Given the description of an element on the screen output the (x, y) to click on. 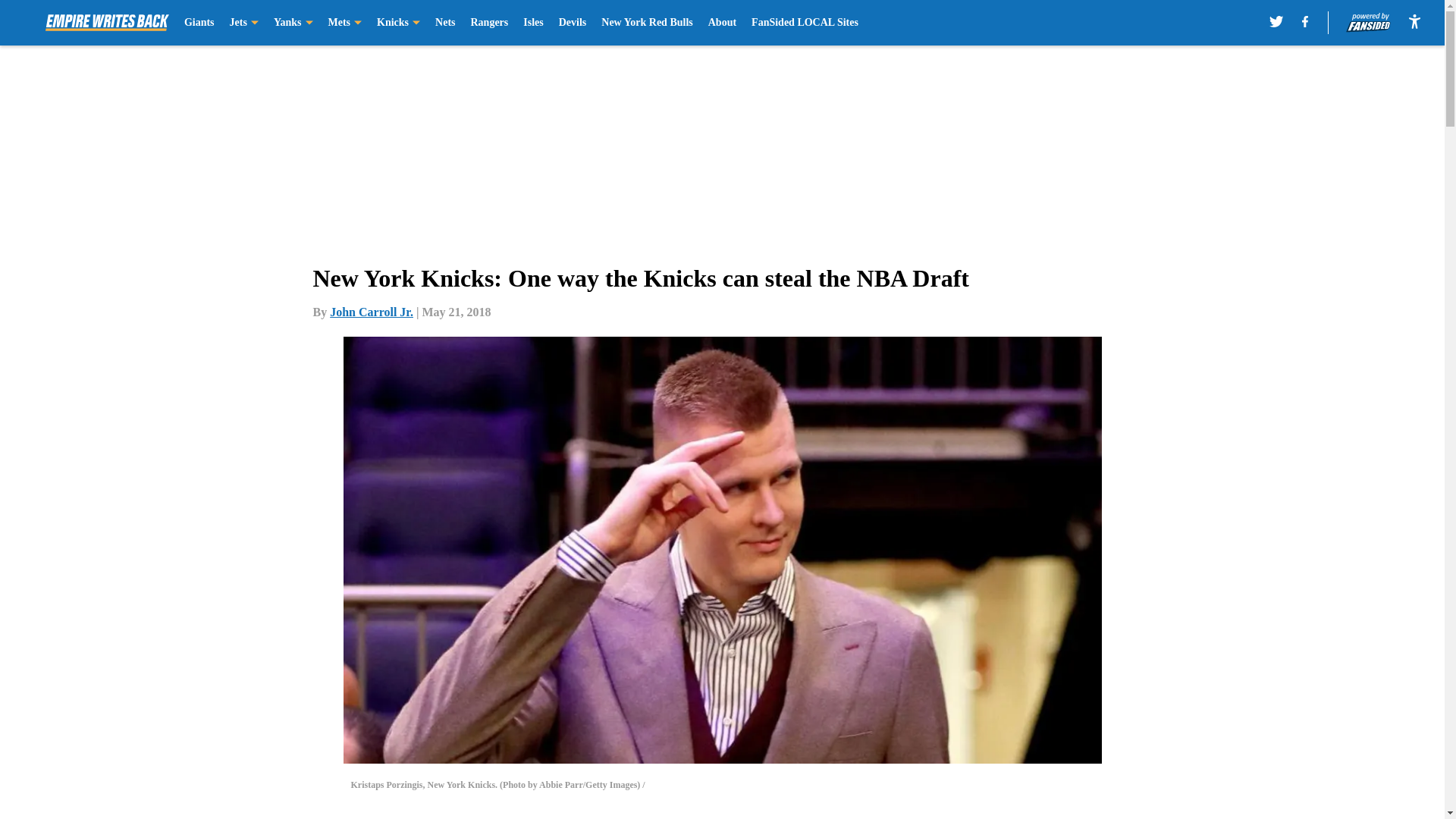
About (721, 22)
John Carroll Jr. (371, 311)
FanSided LOCAL Sites (805, 22)
Giants (199, 22)
Rangers (489, 22)
New York Red Bulls (647, 22)
Isles (532, 22)
Nets (444, 22)
Devils (572, 22)
